Given the description of an element on the screen output the (x, y) to click on. 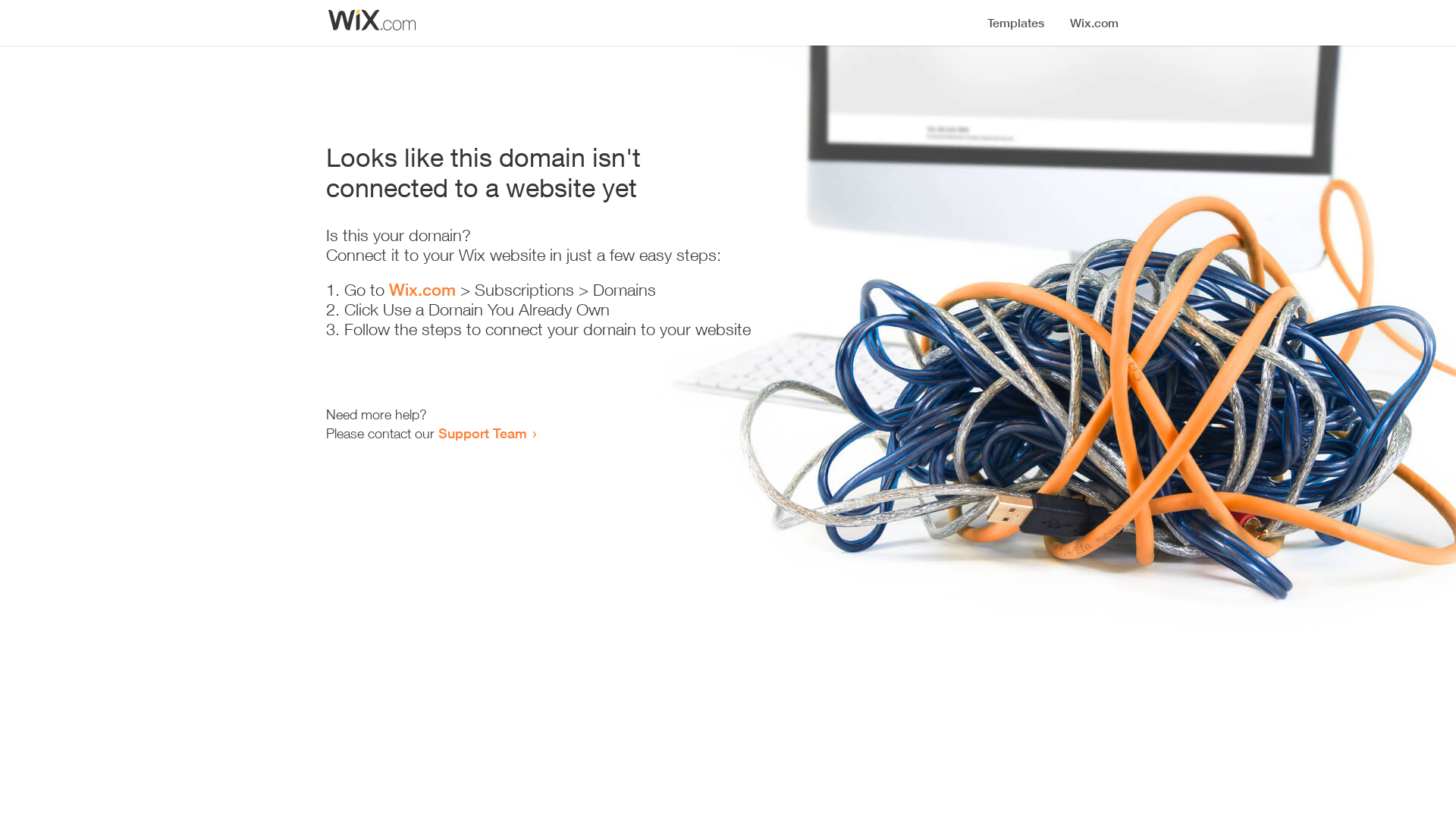
Wix.com Element type: text (422, 289)
Support Team Element type: text (482, 432)
